Given the description of an element on the screen output the (x, y) to click on. 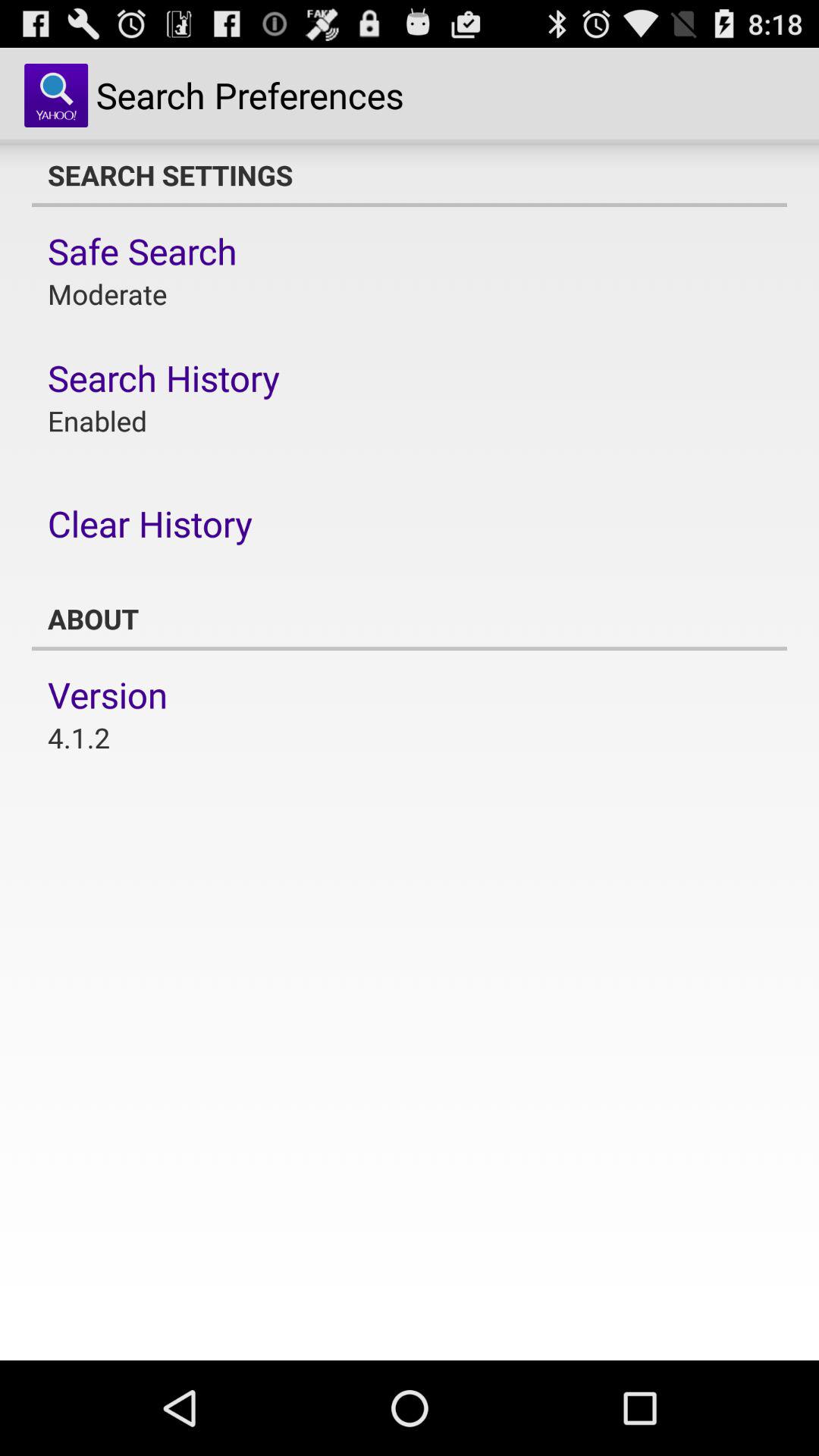
launch safe search icon (142, 250)
